Given the description of an element on the screen output the (x, y) to click on. 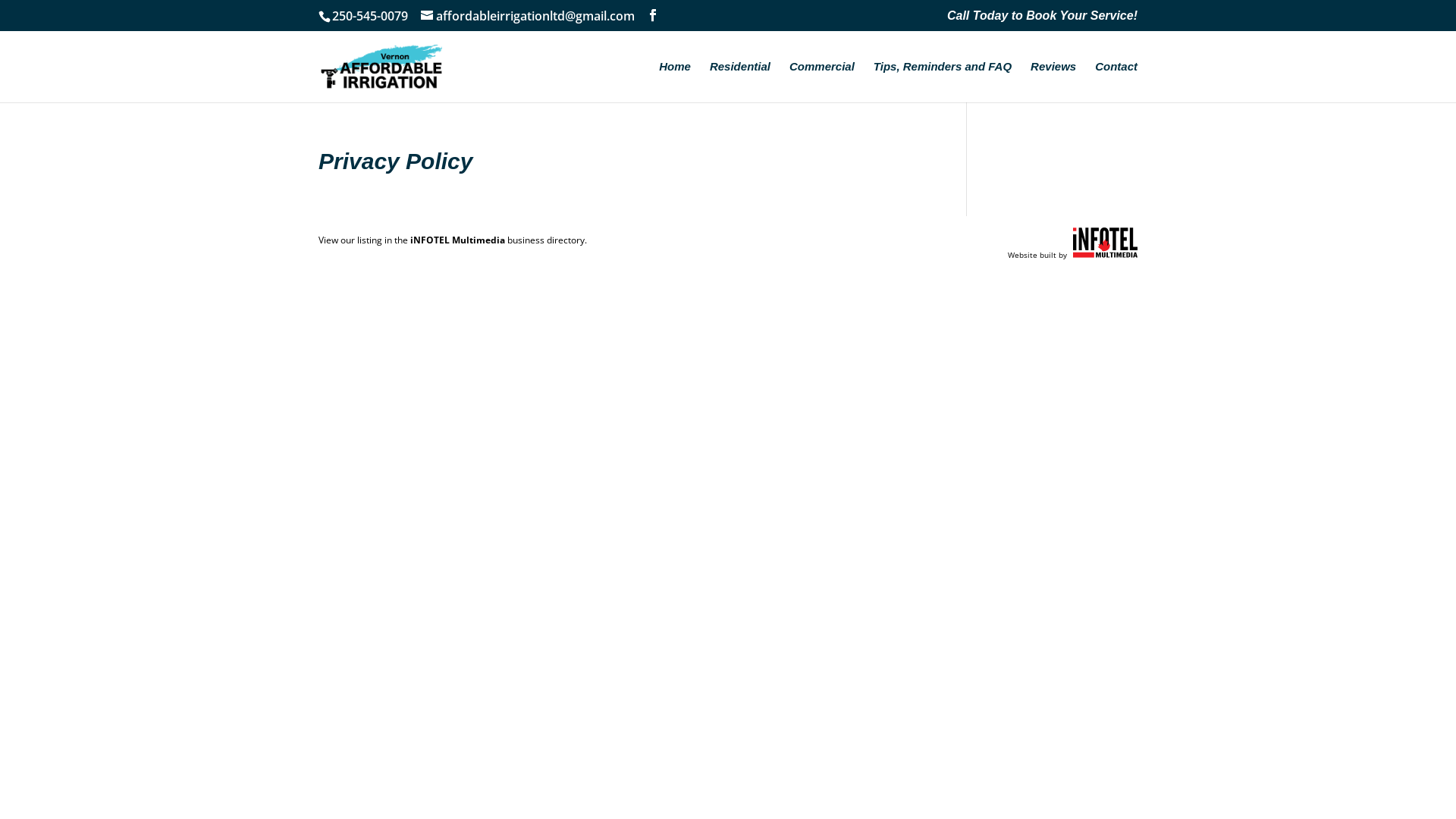
Call Today to Book Your Service! Element type: text (1042, 20)
Commercial Element type: text (821, 81)
affordableirrigationltd@gmail.com Element type: text (527, 15)
Tips, Reminders and FAQ Element type: text (942, 81)
Reviews Element type: text (1053, 81)
Home Element type: text (674, 81)
Contact Element type: text (1116, 81)
Residential Element type: text (739, 81)
